Given the description of an element on the screen output the (x, y) to click on. 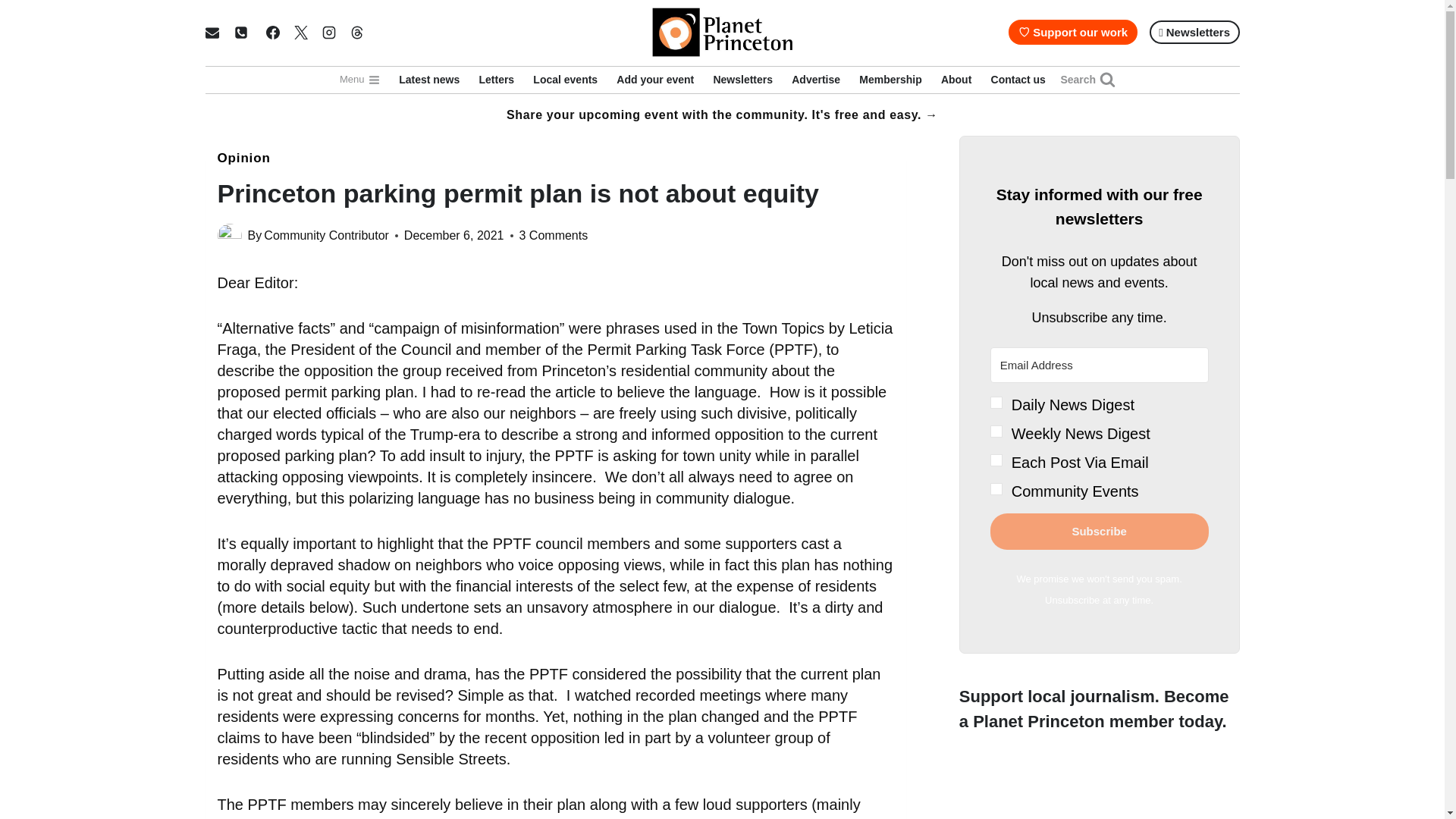
Opinion (242, 157)
Menu (360, 79)
About (956, 79)
Membership (890, 79)
Advertise (816, 79)
Local events (565, 79)
3 Comments (553, 235)
Search (1087, 79)
Community Contributor (325, 235)
Latest news (429, 79)
